Given the description of an element on the screen output the (x, y) to click on. 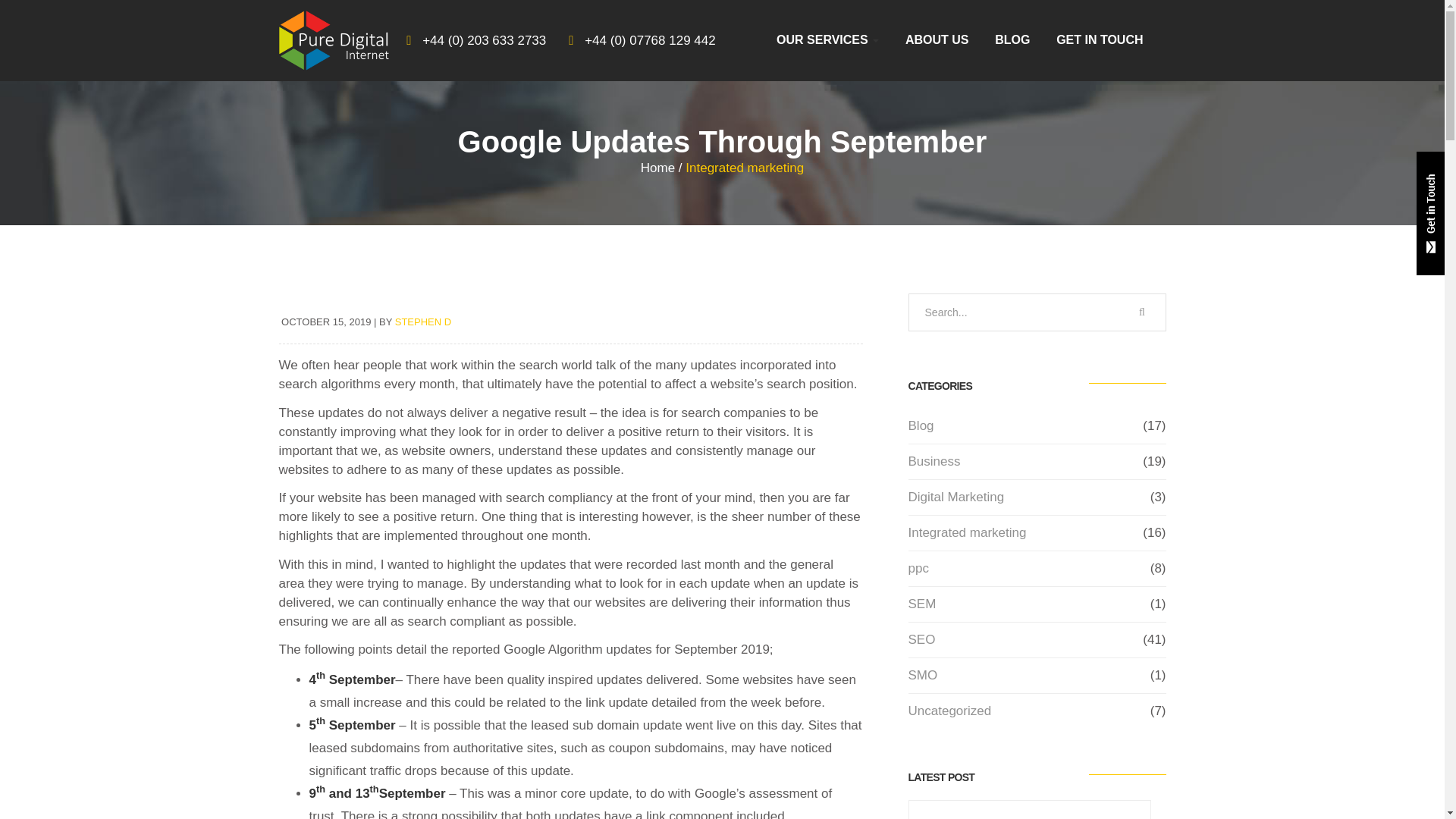
Blog (921, 425)
SEM (922, 603)
ppc (918, 568)
Digital Marketing (956, 497)
OUR SERVICES (827, 39)
Business (934, 461)
GET IN TOUCH (1099, 39)
BLOG (1011, 39)
ABOUT US (937, 39)
Integrated marketing (967, 532)
